Given the description of an element on the screen output the (x, y) to click on. 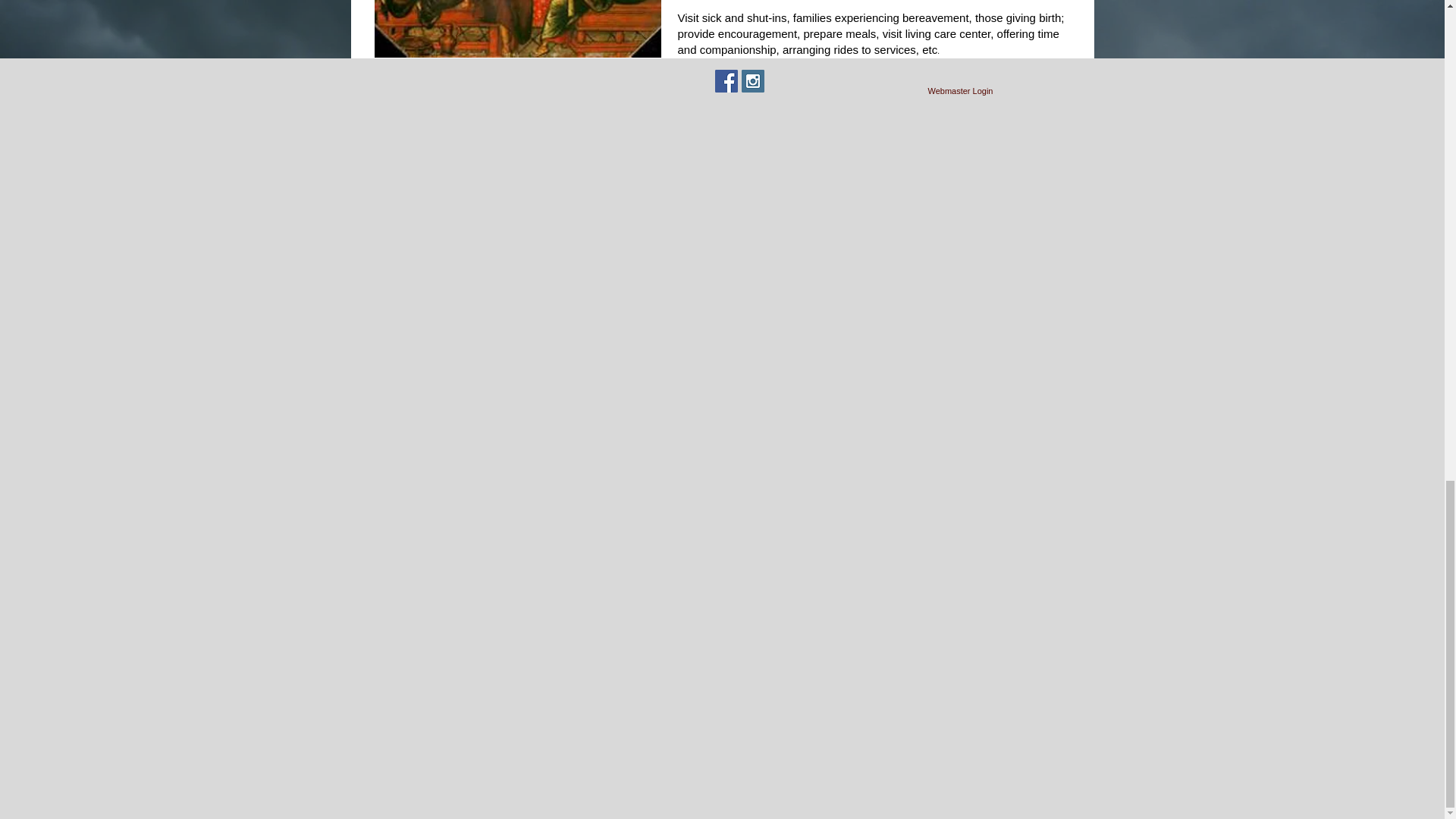
Webmaster Login (959, 91)
